Given the description of an element on the screen output the (x, y) to click on. 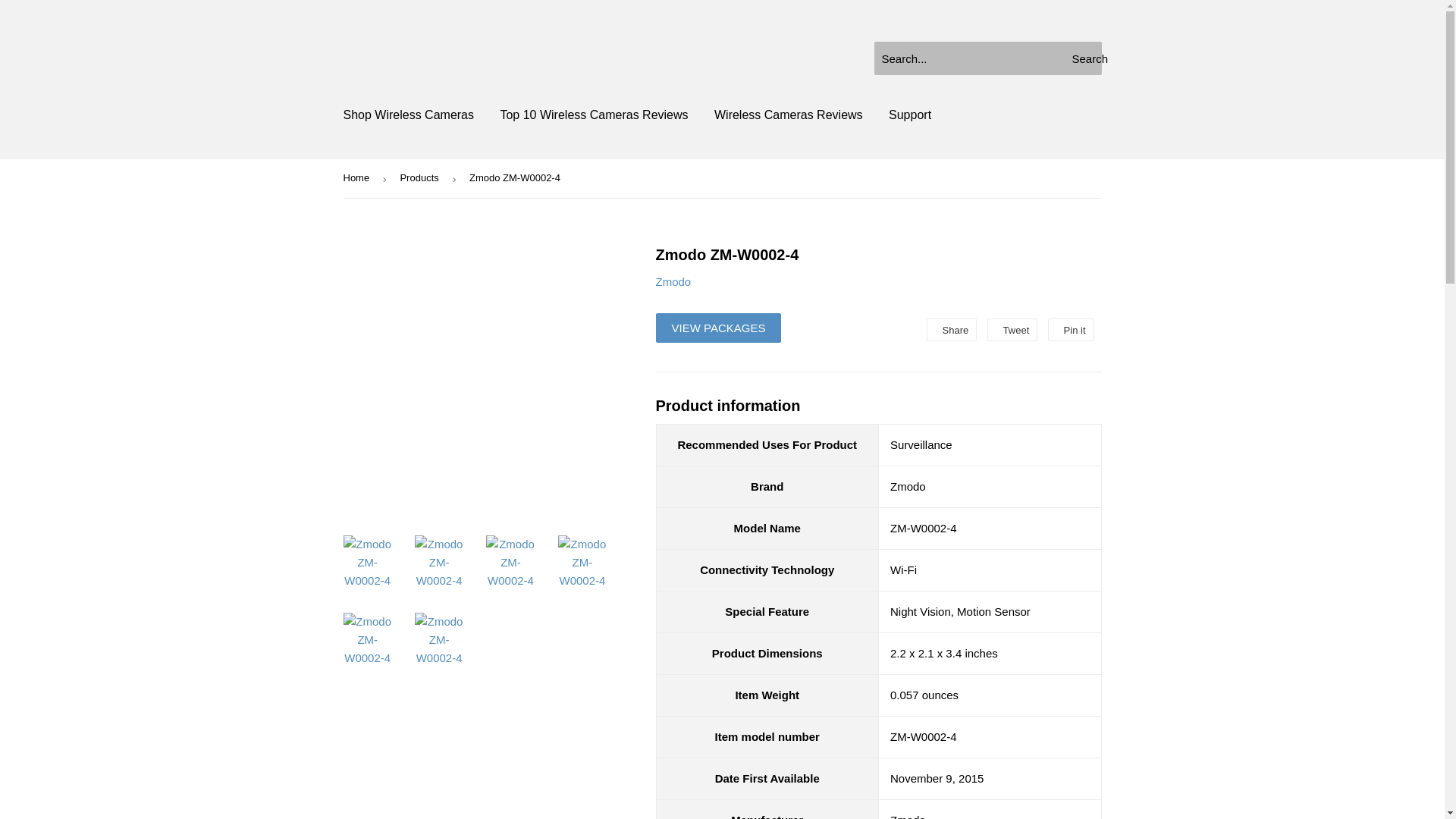
Share on Facebook (951, 329)
Search (1084, 59)
Tweet on Twitter (1011, 329)
Pin on Pinterest (1070, 329)
